Given the description of an element on the screen output the (x, y) to click on. 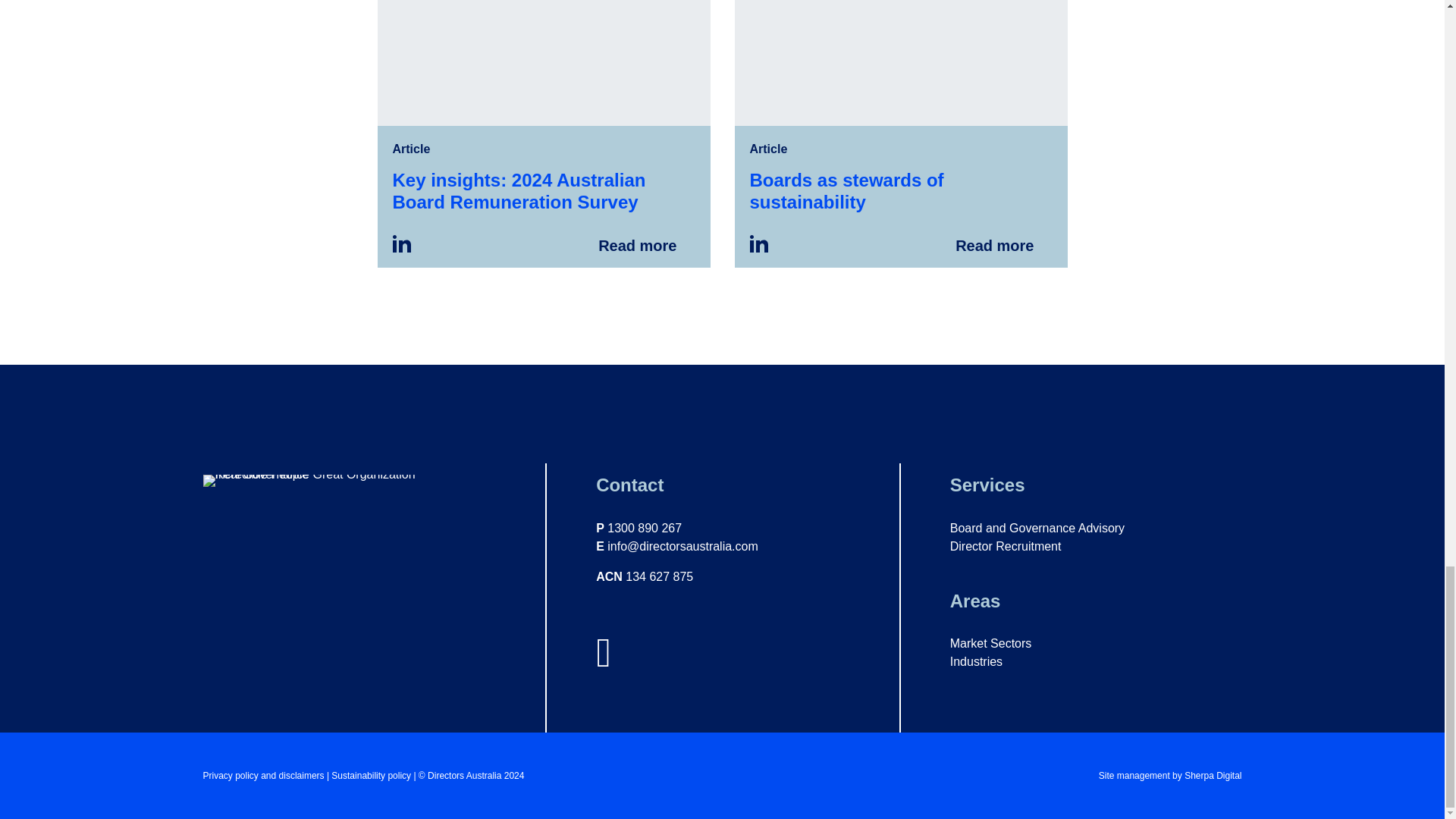
1300 890 267 (644, 527)
Market Sectors (991, 643)
Read more (900, 133)
Industries (976, 661)
Read more (543, 133)
Director Recruitment (1005, 545)
Sustainability policy (372, 775)
Article (411, 148)
Sherpa Digital (1213, 775)
directors-australia-promise (335, 480)
Board and Governance Advisory (1037, 527)
Article (768, 148)
Privacy policy and disclaimers (263, 775)
